Given the description of an element on the screen output the (x, y) to click on. 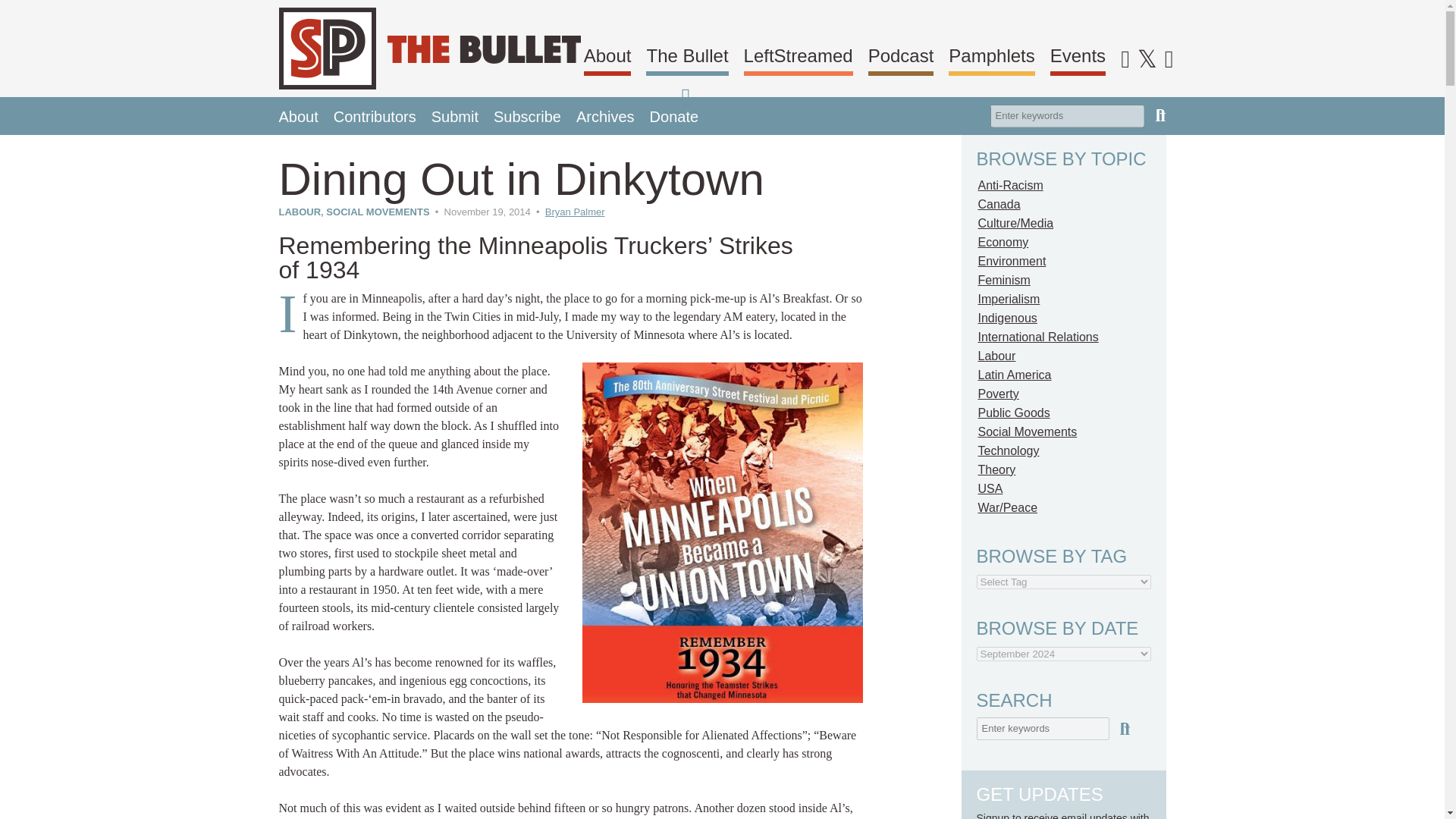
Environment (1012, 260)
The Bullet (687, 58)
LABOUR (300, 211)
LeftStreamed (798, 58)
Canada (999, 204)
Subscribe (526, 115)
Submit (454, 115)
Podcast (900, 58)
About (607, 58)
Imperialism (1009, 298)
